Given the description of an element on the screen output the (x, y) to click on. 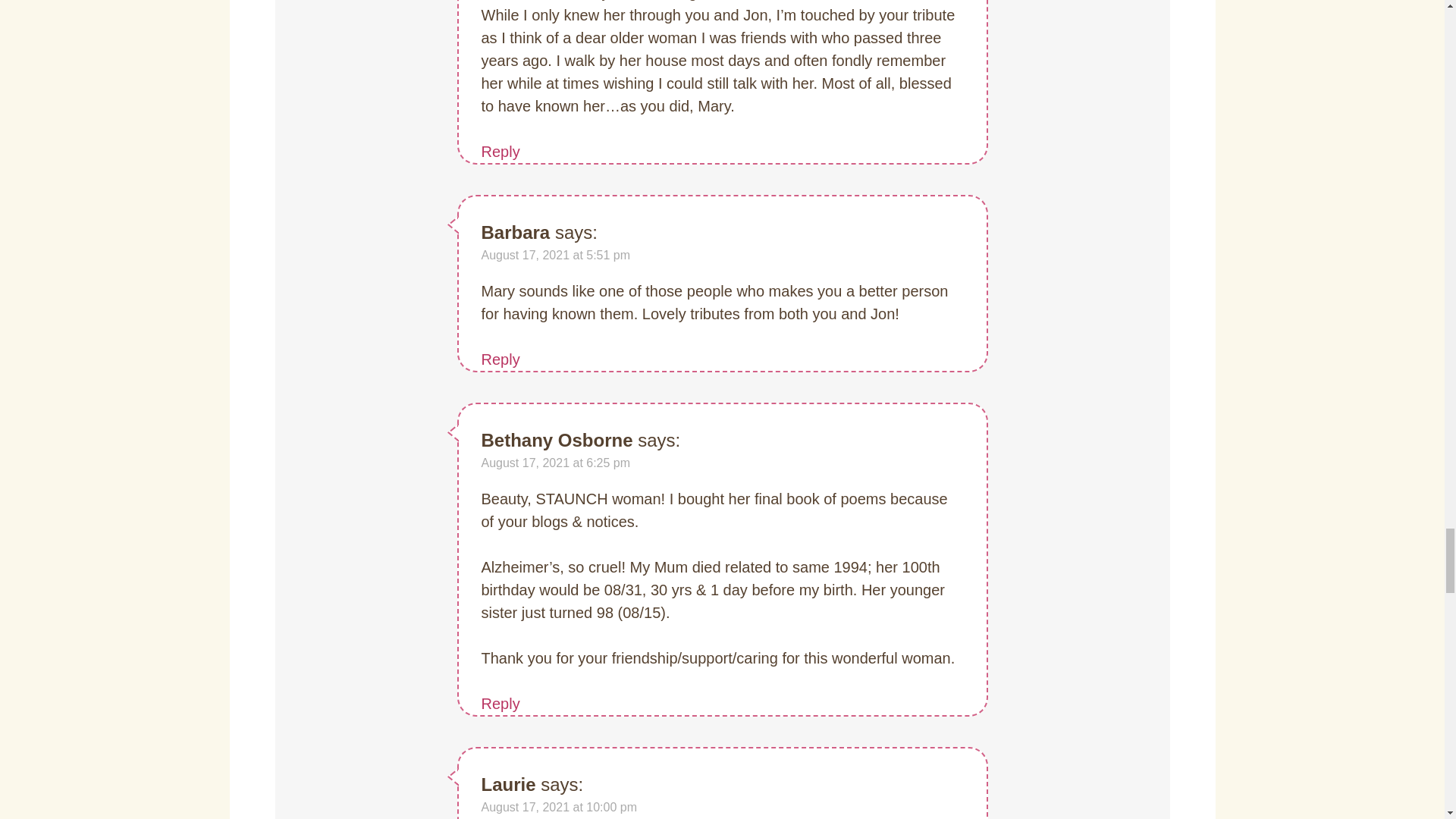
August 17, 2021 at 10:00 pm (558, 807)
Laurie (507, 783)
August 17, 2021 at 6:25 pm (555, 462)
August 17, 2021 at 5:51 pm (555, 254)
Reply (499, 703)
Reply (499, 151)
Reply (499, 359)
